Given the description of an element on the screen output the (x, y) to click on. 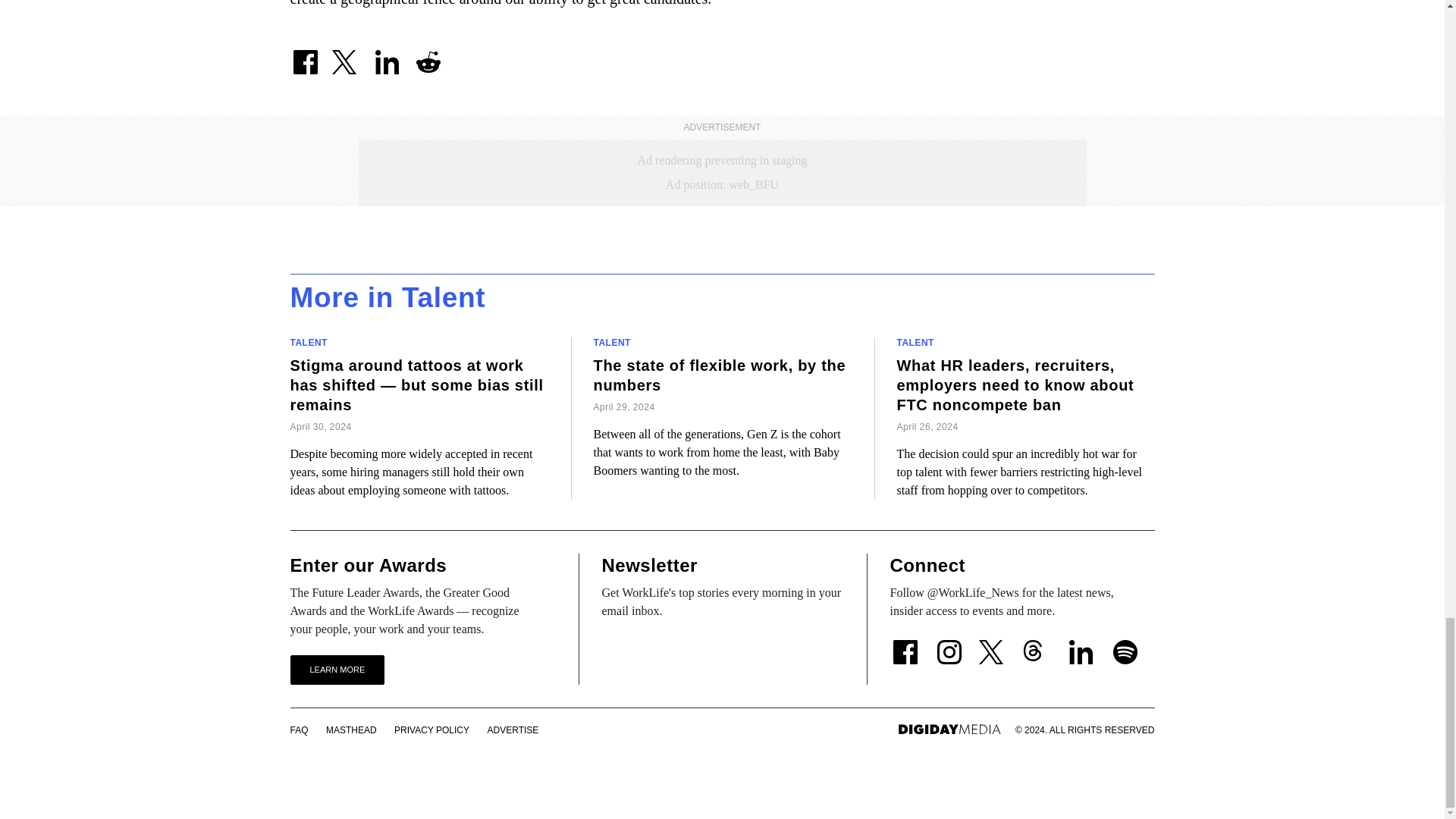
Share on Twitter (345, 55)
Share on Reddit (427, 55)
Share on Facebook (304, 55)
Share on LinkedIn (386, 55)
